Given the description of an element on the screen output the (x, y) to click on. 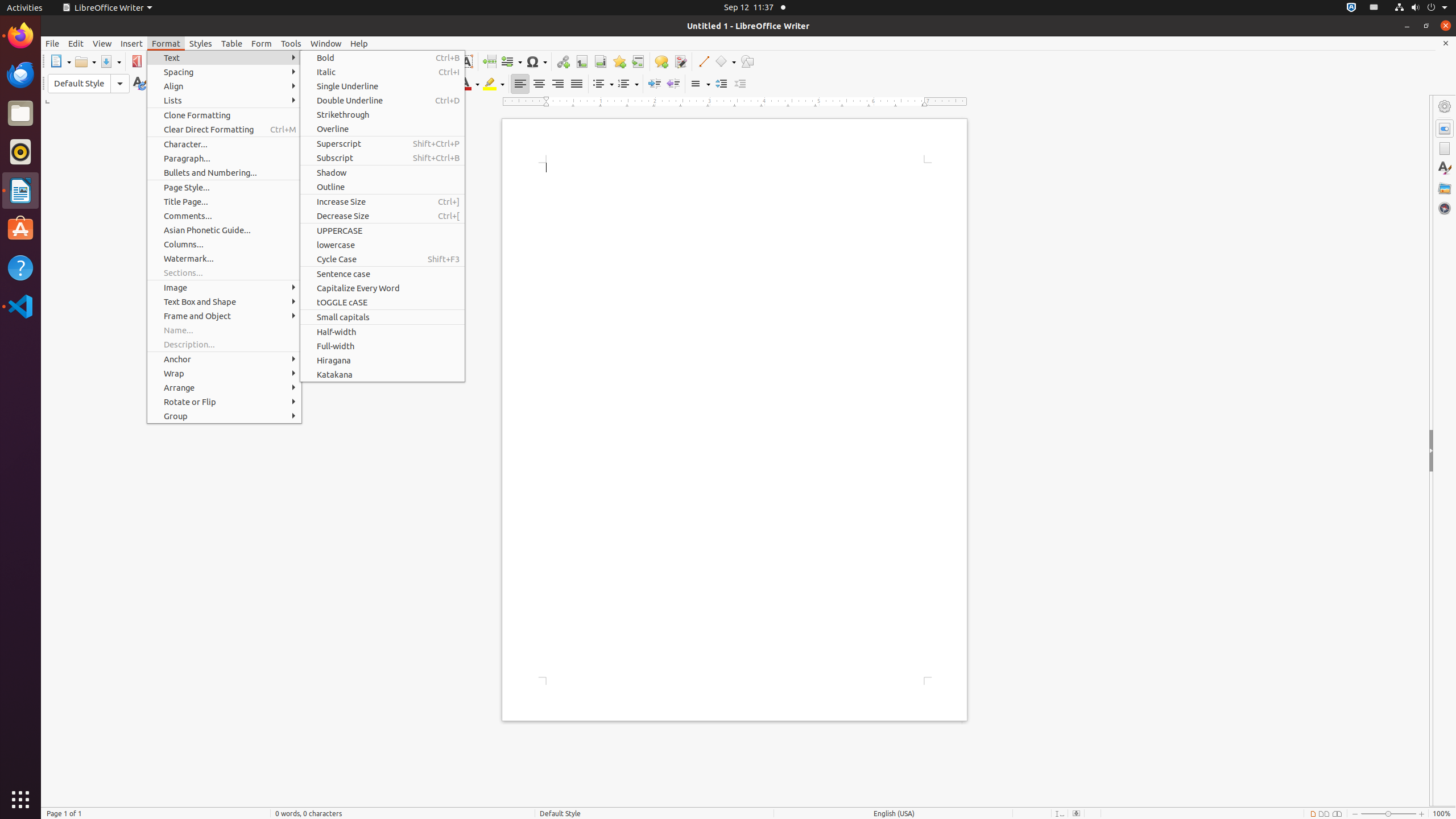
Find & Replace Element type: toggle-button (342, 61)
Group Element type: menu (224, 415)
Decrease Size Element type: menu-item (382, 215)
Bold Element type: toggle-button (320, 83)
Redo Element type: push-button (315, 61)
